Given the description of an element on the screen output the (x, y) to click on. 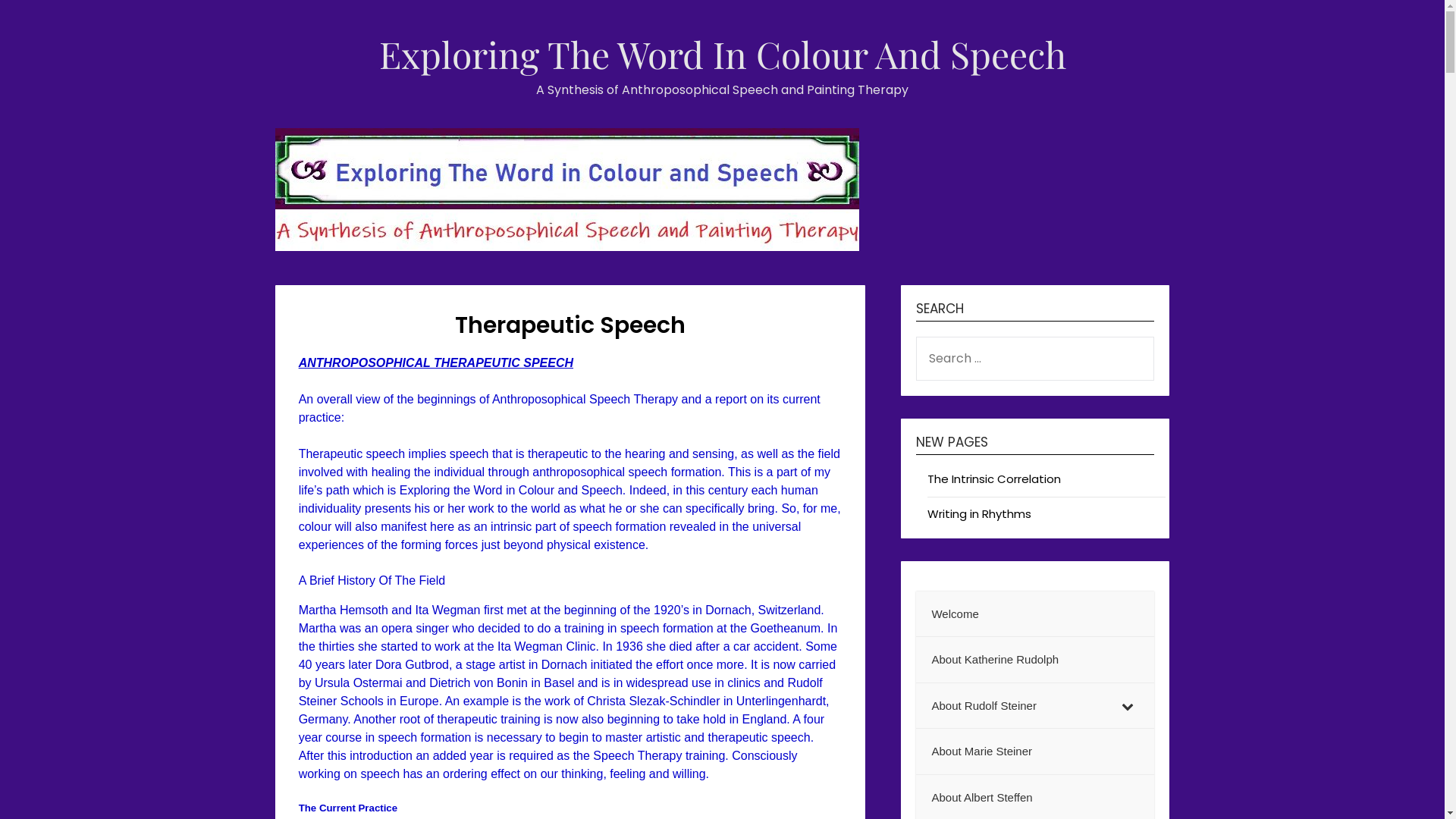
About Marie Steiner Element type: text (1035, 751)
Writing in Rhythms Element type: text (979, 513)
The Intrinsic Correlation Element type: text (993, 478)
Welcome Element type: text (1035, 614)
Exploring The Word In Colour And Speech Element type: text (722, 53)
Search Element type: text (40, 21)
About Rudolf Steiner Element type: text (1035, 706)
About Katherine Rudolph Element type: text (1035, 660)
